Given the description of an element on the screen output the (x, y) to click on. 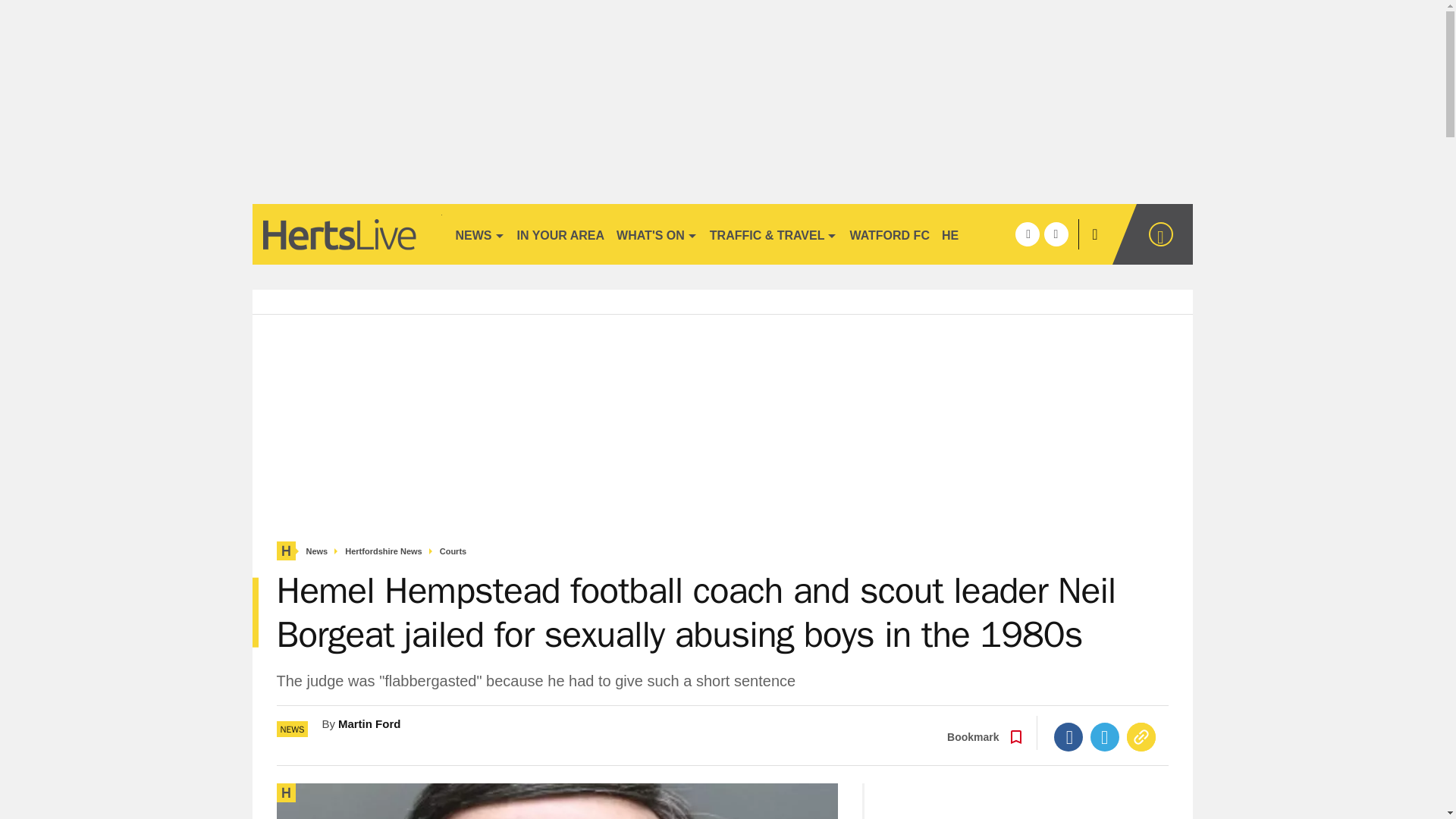
twitter (1055, 233)
WHAT'S ON (656, 233)
WATFORD FC (888, 233)
HEMEL HEMPSTEAD (1003, 233)
Facebook (1068, 736)
Twitter (1104, 736)
hertfordshiremercury (346, 233)
facebook (1026, 233)
NEWS (479, 233)
IN YOUR AREA (561, 233)
